Given the description of an element on the screen output the (x, y) to click on. 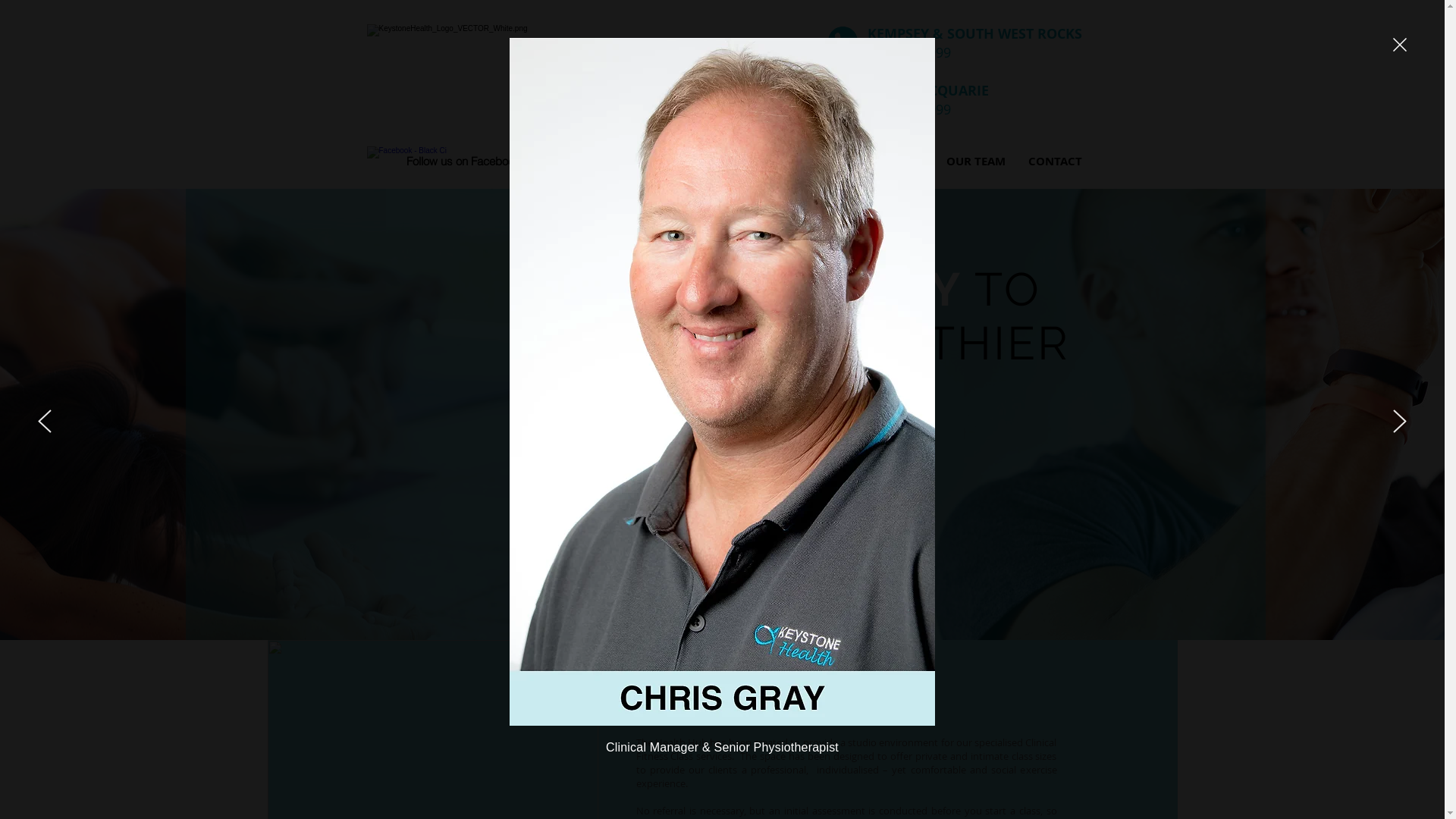
KEMPSEY & SOUTH WEST ROCKS
02 6562 8999 Element type: text (974, 42)
HOME Element type: text (648, 160)
SERVICES Element type: text (714, 160)
CONTACT Element type: text (1054, 160)
ABOUT Element type: text (903, 160)
Follow us on Facebook Element type: text (463, 160)
CLINICAL FITNESS Element type: text (811, 160)
OUR TEAM Element type: text (975, 160)
PORT MACQUARIE
02 6583 8999 Element type: text (927, 99)
